Given the description of an element on the screen output the (x, y) to click on. 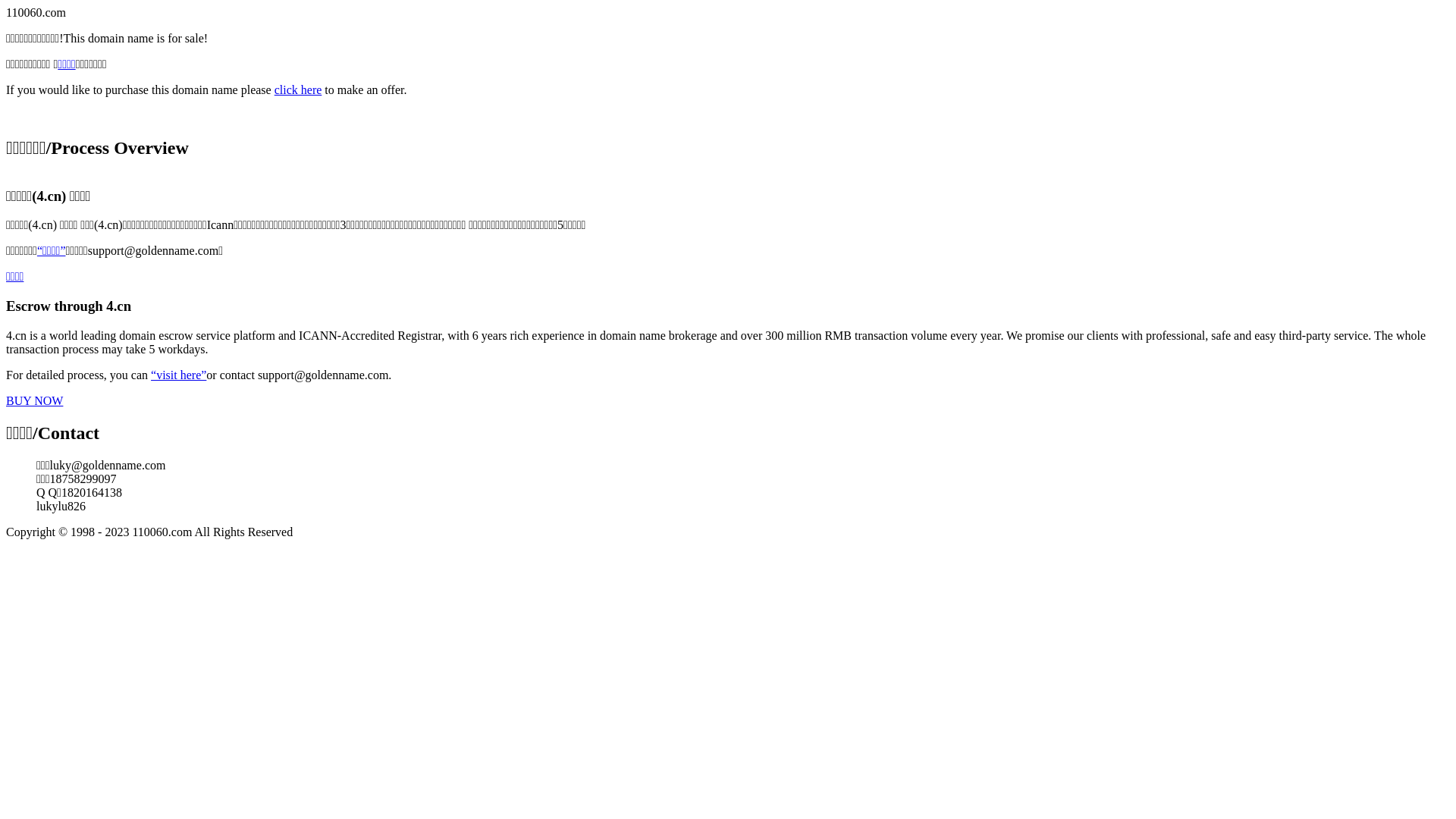
BUY NOW Element type: text (34, 400)
click here Element type: text (298, 89)
